Given the description of an element on the screen output the (x, y) to click on. 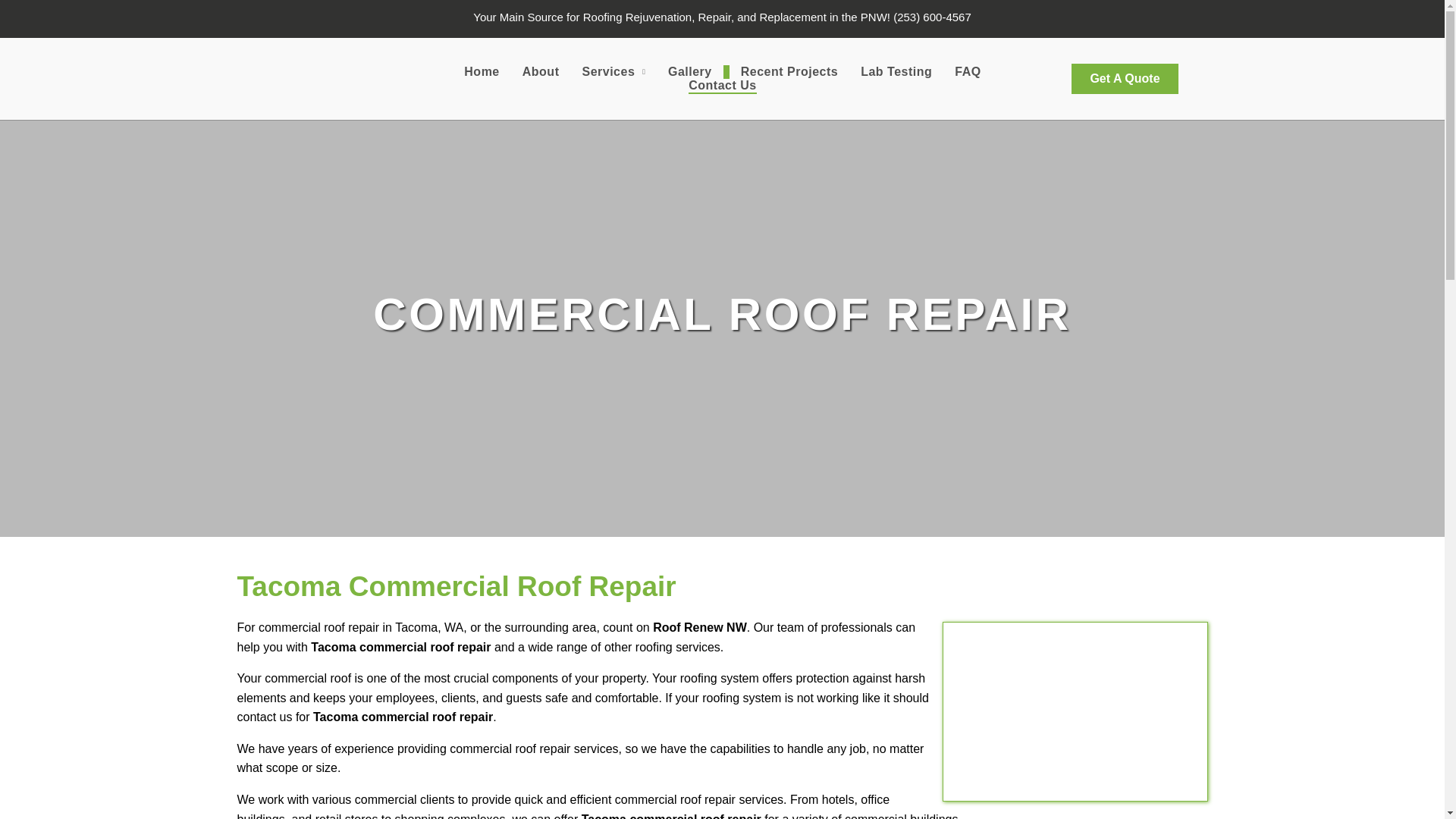
Services (613, 71)
Home (481, 71)
Contact Us (722, 86)
Gallery (689, 71)
About (540, 71)
Lab Testing (895, 71)
Recent Projects (788, 71)
Get A Quote (1124, 78)
FAQ (967, 71)
